Given the description of an element on the screen output the (x, y) to click on. 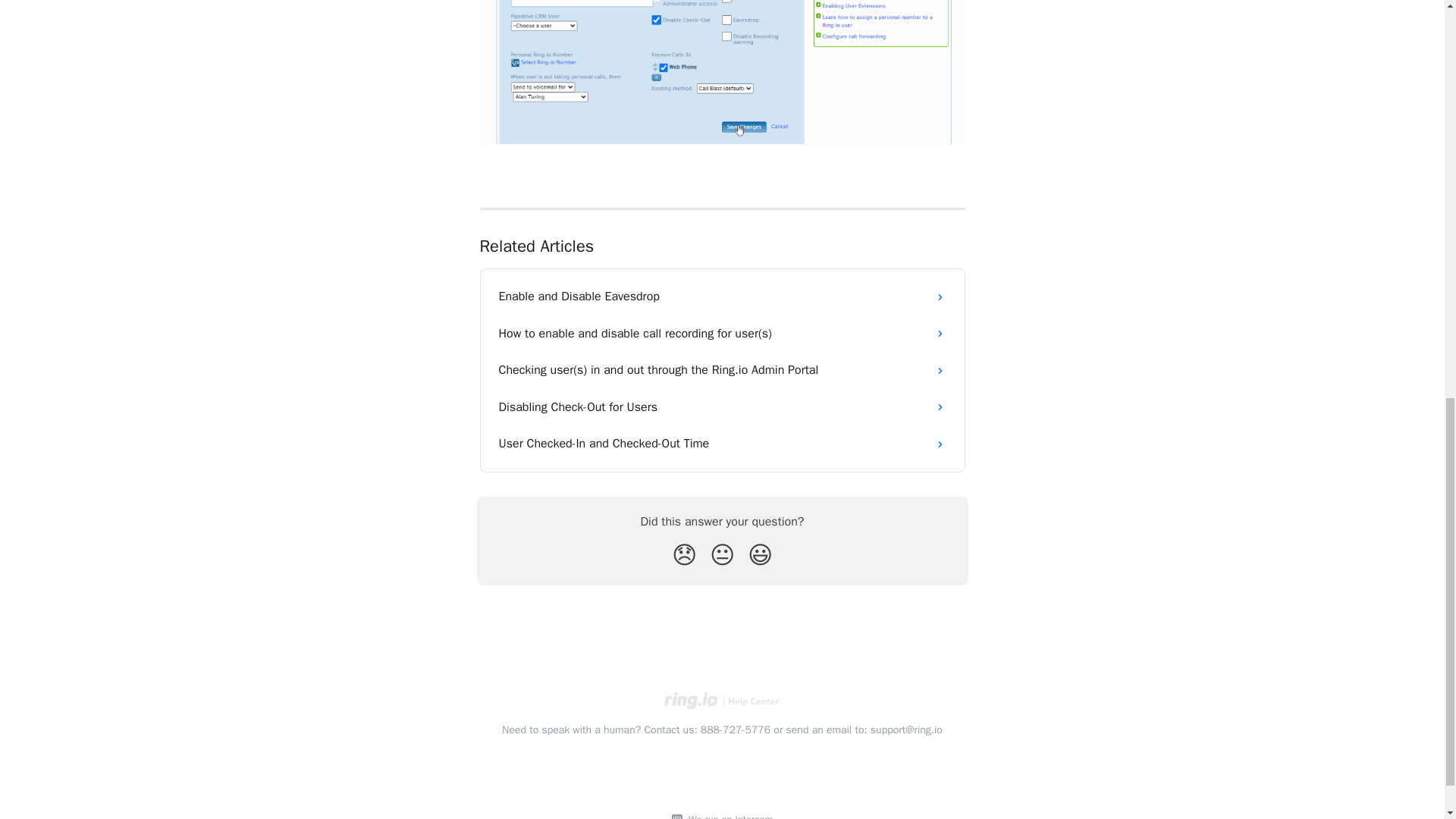
User Checked-In and Checked-Out Time (722, 443)
Enable and Disable Eavesdrop (722, 296)
We run on Intercom (727, 815)
Disabling Check-Out for Users (722, 407)
